Given the description of an element on the screen output the (x, y) to click on. 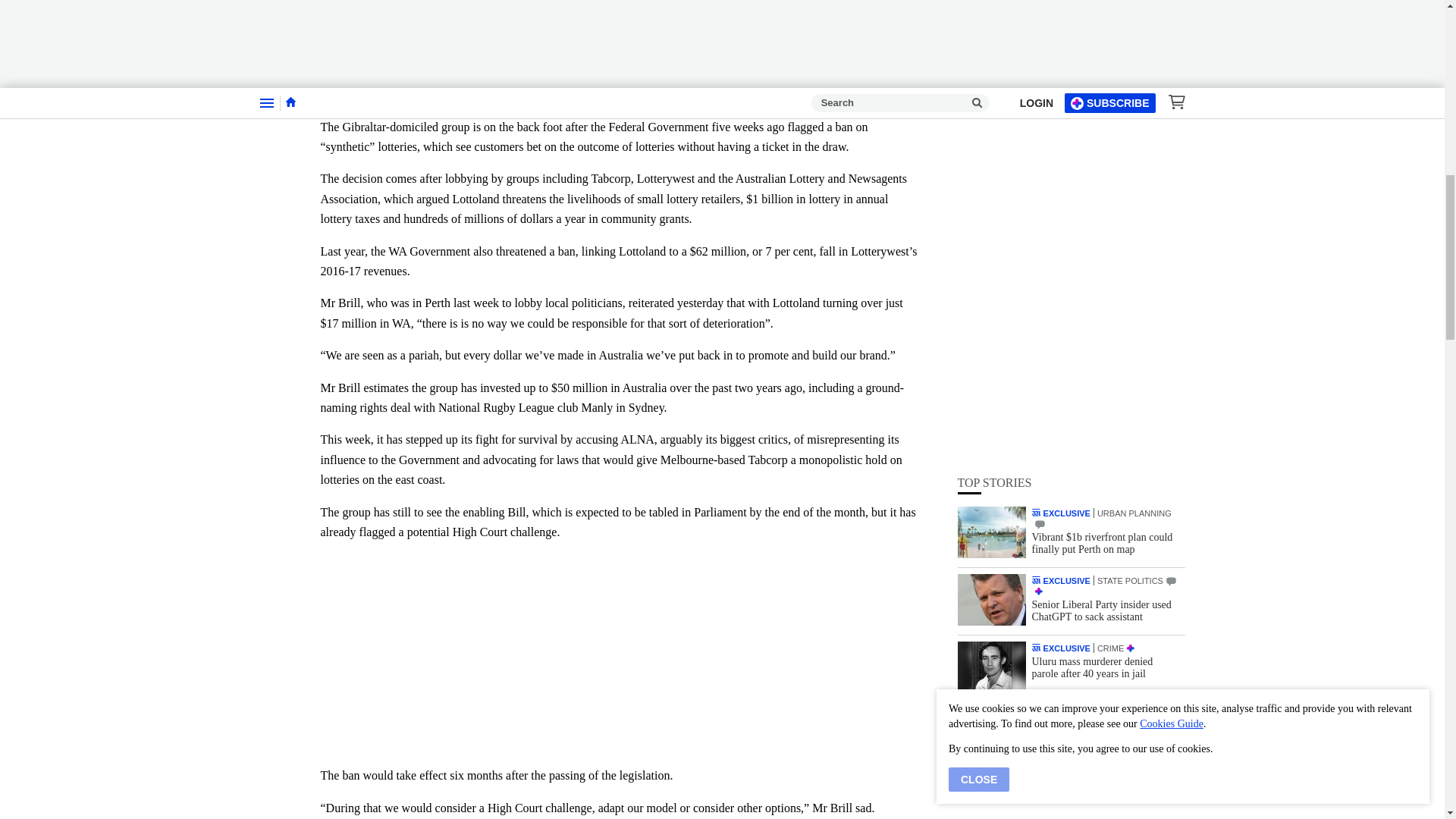
COMMENTS (1038, 122)
THE WEST AUSTRALIAN (1035, 111)
COMMENTS (1171, 180)
THE WEST AUSTRALIAN (1035, 178)
PREMIUM (1037, 190)
